Given the description of an element on the screen output the (x, y) to click on. 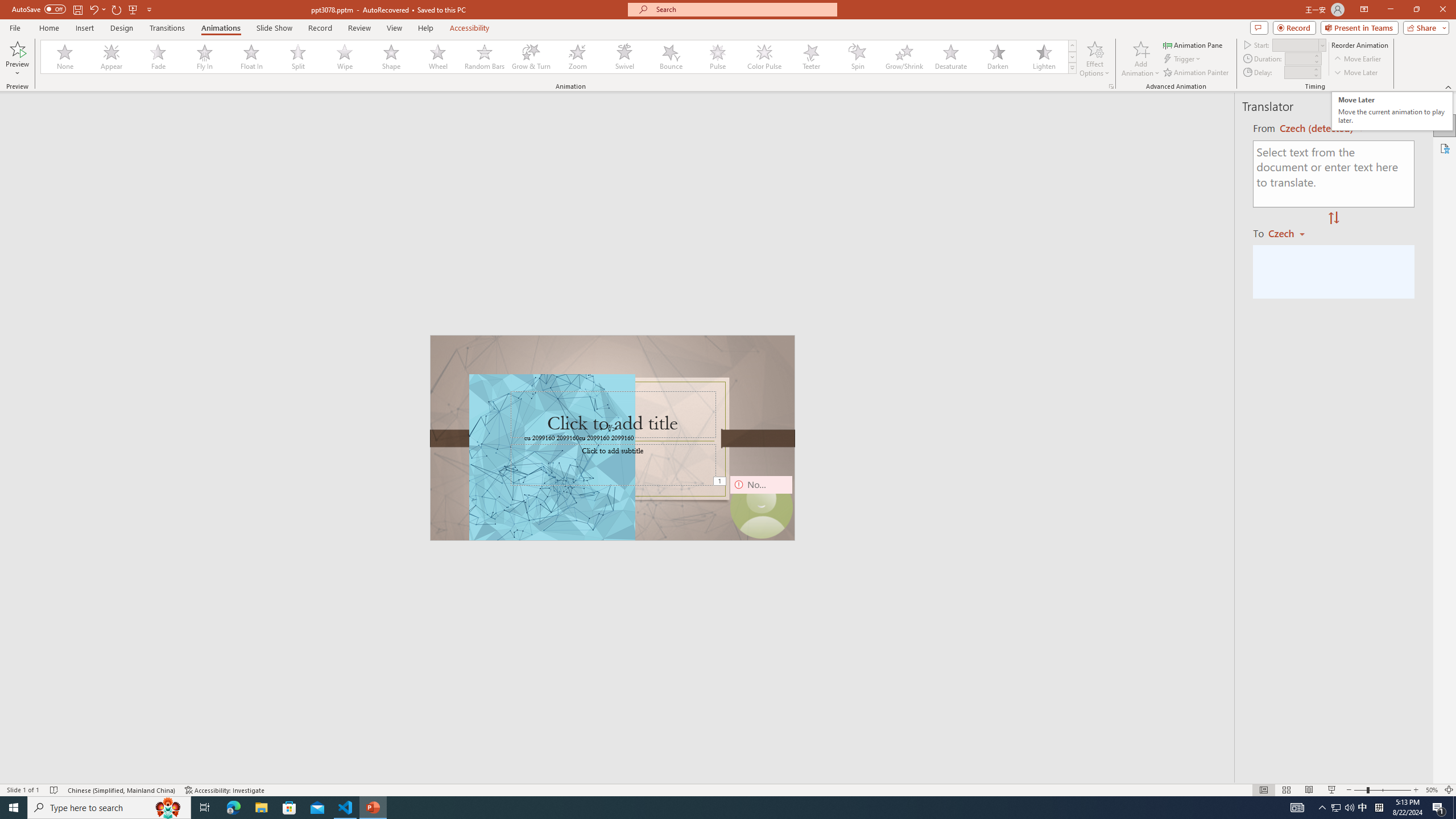
Add Animation (1141, 58)
